Given the description of an element on the screen output the (x, y) to click on. 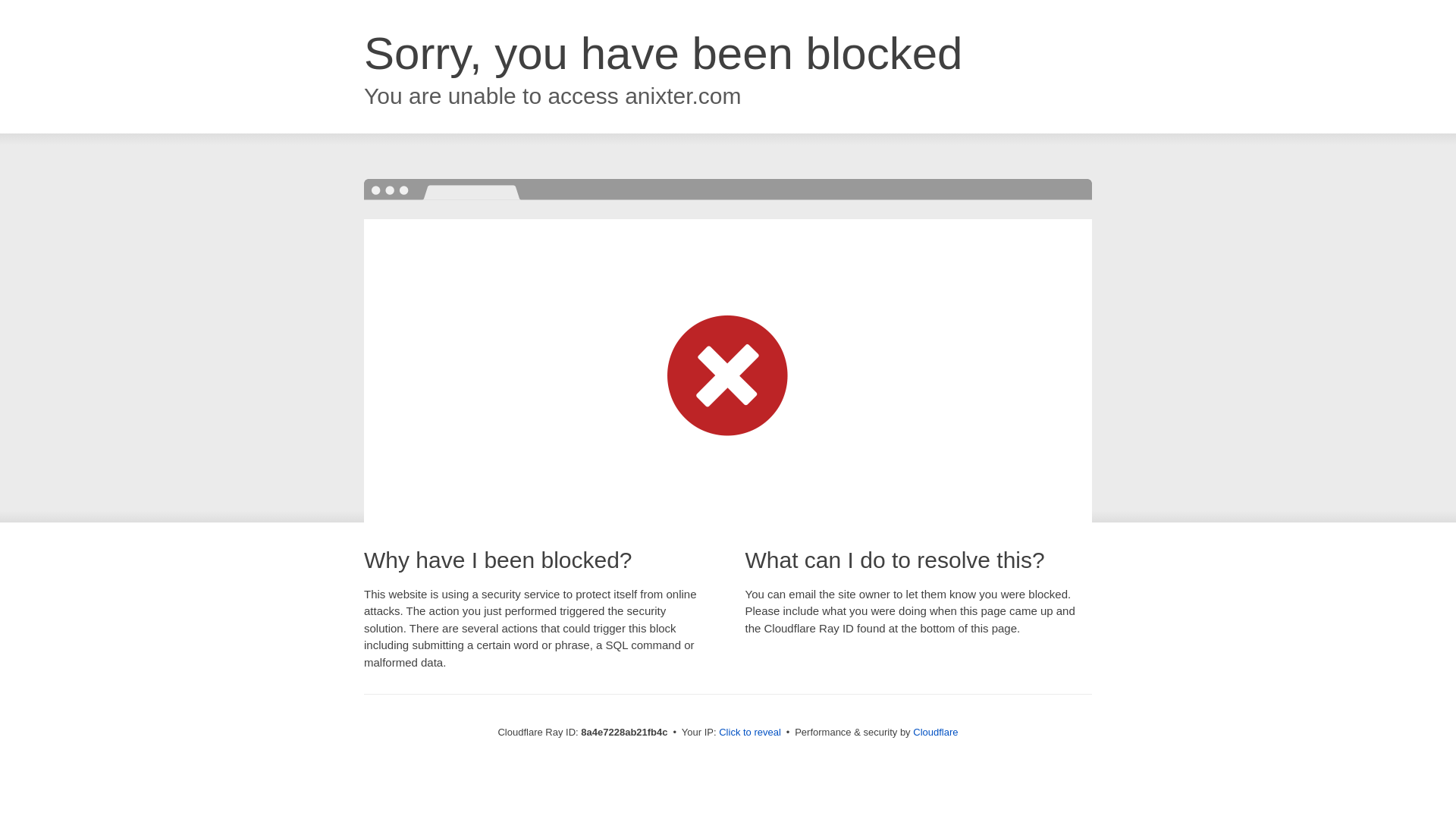
Cloudflare (935, 731)
Click to reveal (749, 732)
